Given the description of an element on the screen output the (x, y) to click on. 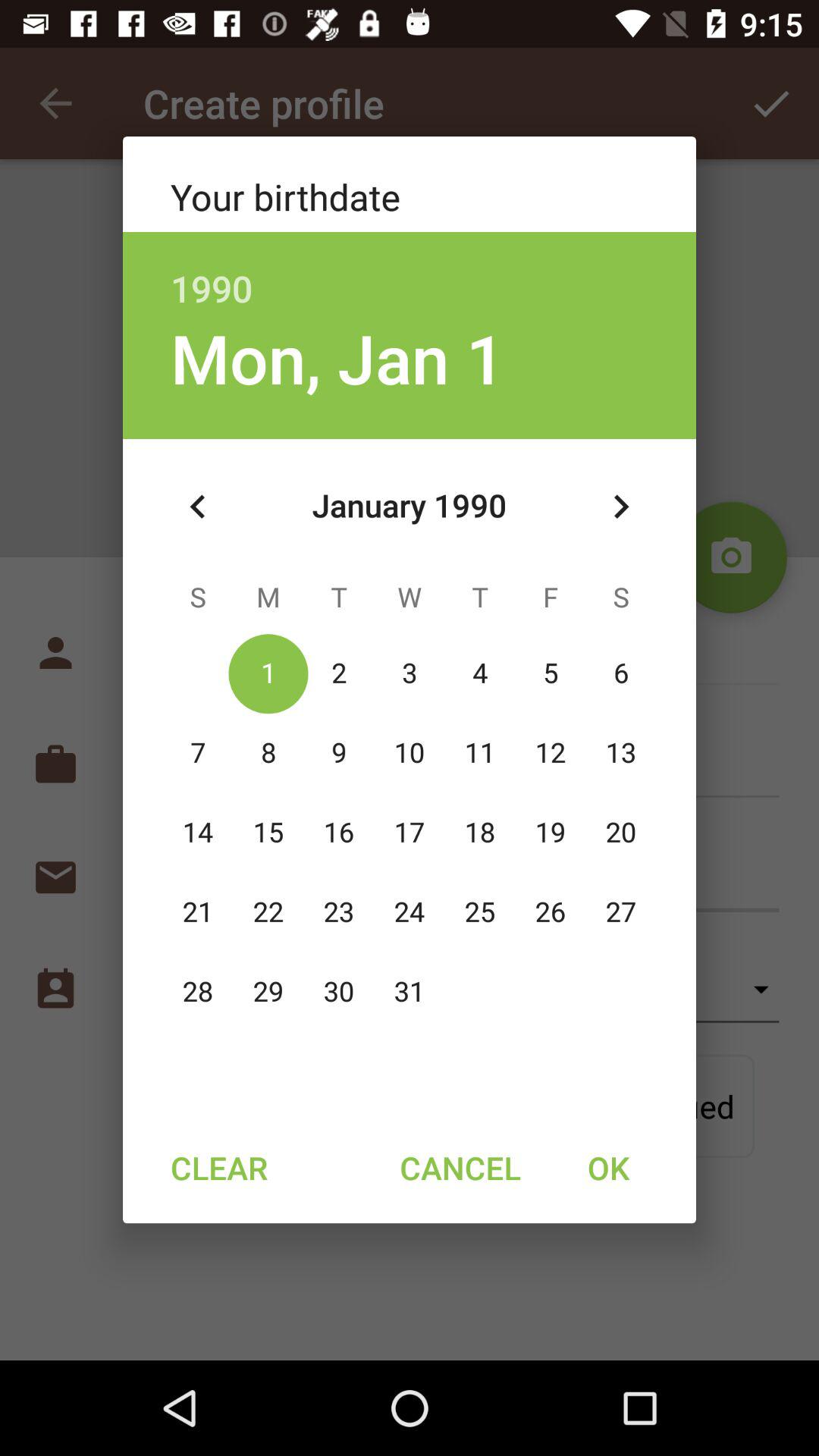
choose the ok item (608, 1167)
